Given the description of an element on the screen output the (x, y) to click on. 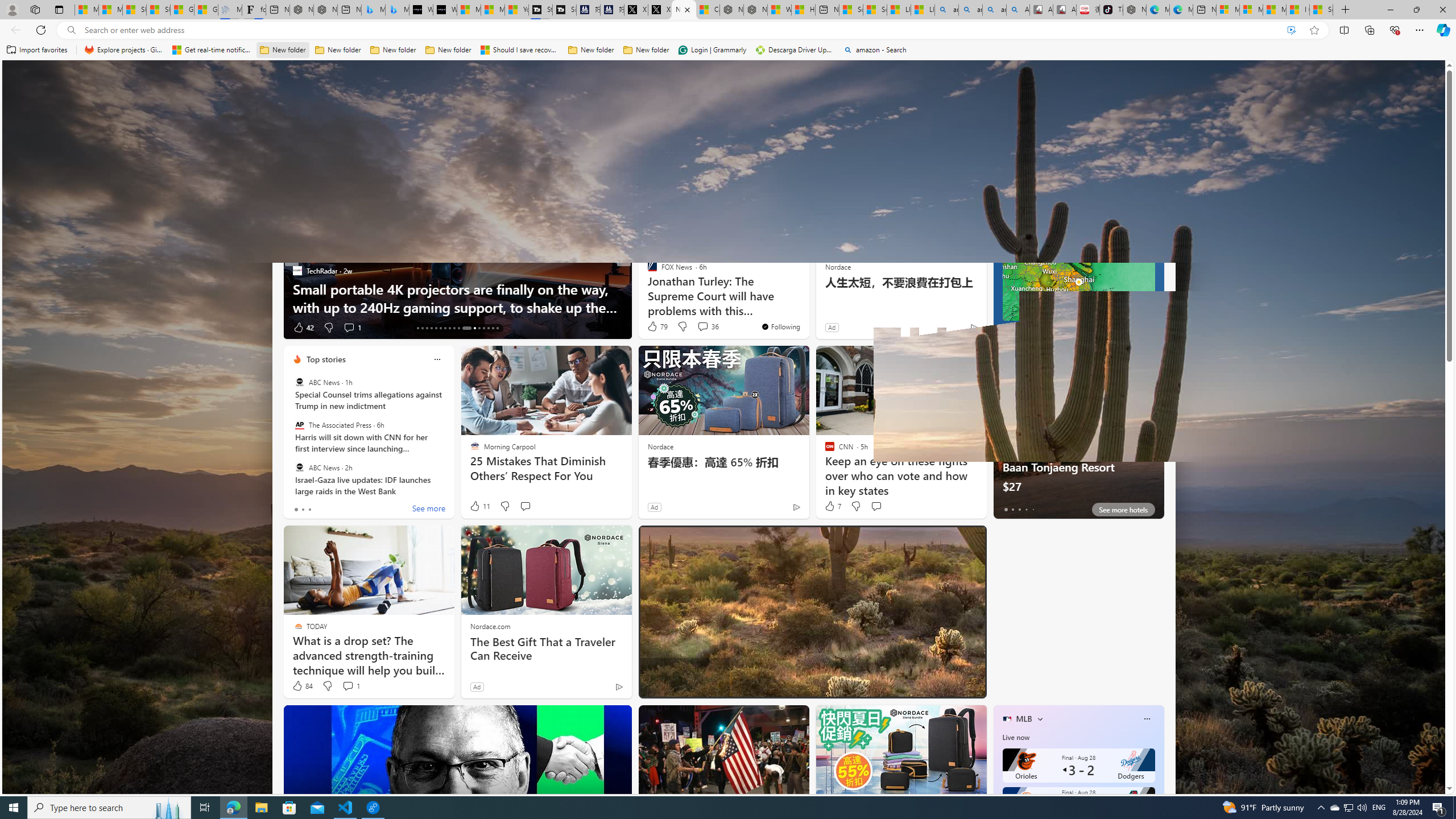
Traffic (816, 151)
Open Copilot (926, 78)
Import favorites (36, 49)
tab-4 (1032, 509)
79 Like (657, 326)
TechRadar (296, 270)
Gaming (537, 151)
Should I save recovered Word documents? - Microsoft Support (519, 49)
Feedback (1414, 784)
New tab (1204, 9)
AutomationID: waffle (27, 78)
amazon - Search (875, 49)
